Given the description of an element on the screen output the (x, y) to click on. 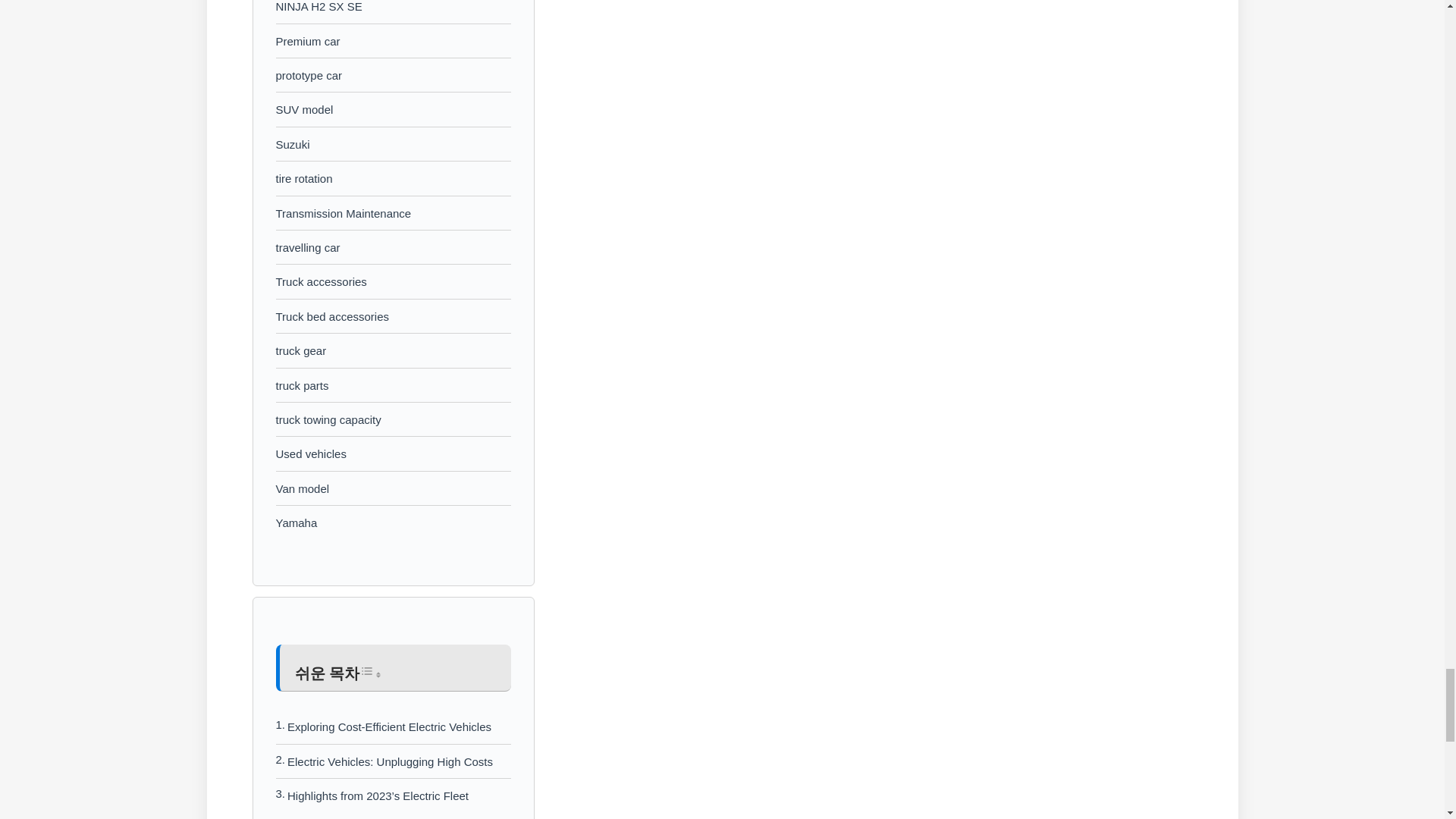
Exploring Cost-Efficient Electric Vehicles (389, 726)
